Given the description of an element on the screen output the (x, y) to click on. 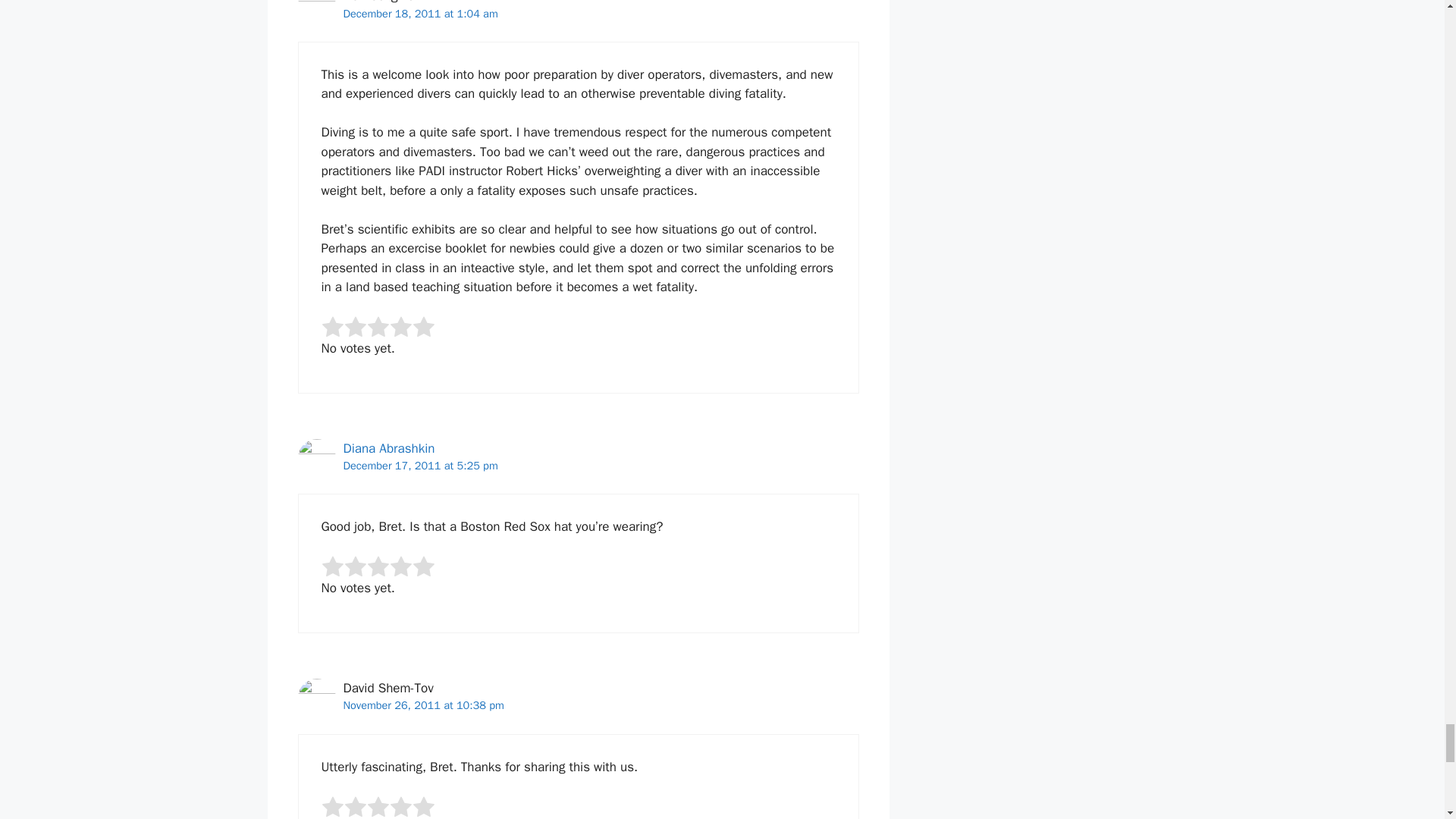
December 18, 2011 at 1:04 am (419, 13)
December 17, 2011 at 5:25 pm (419, 465)
November 26, 2011 at 10:38 pm (422, 704)
Diana Abrashkin (387, 448)
